Given the description of an element on the screen output the (x, y) to click on. 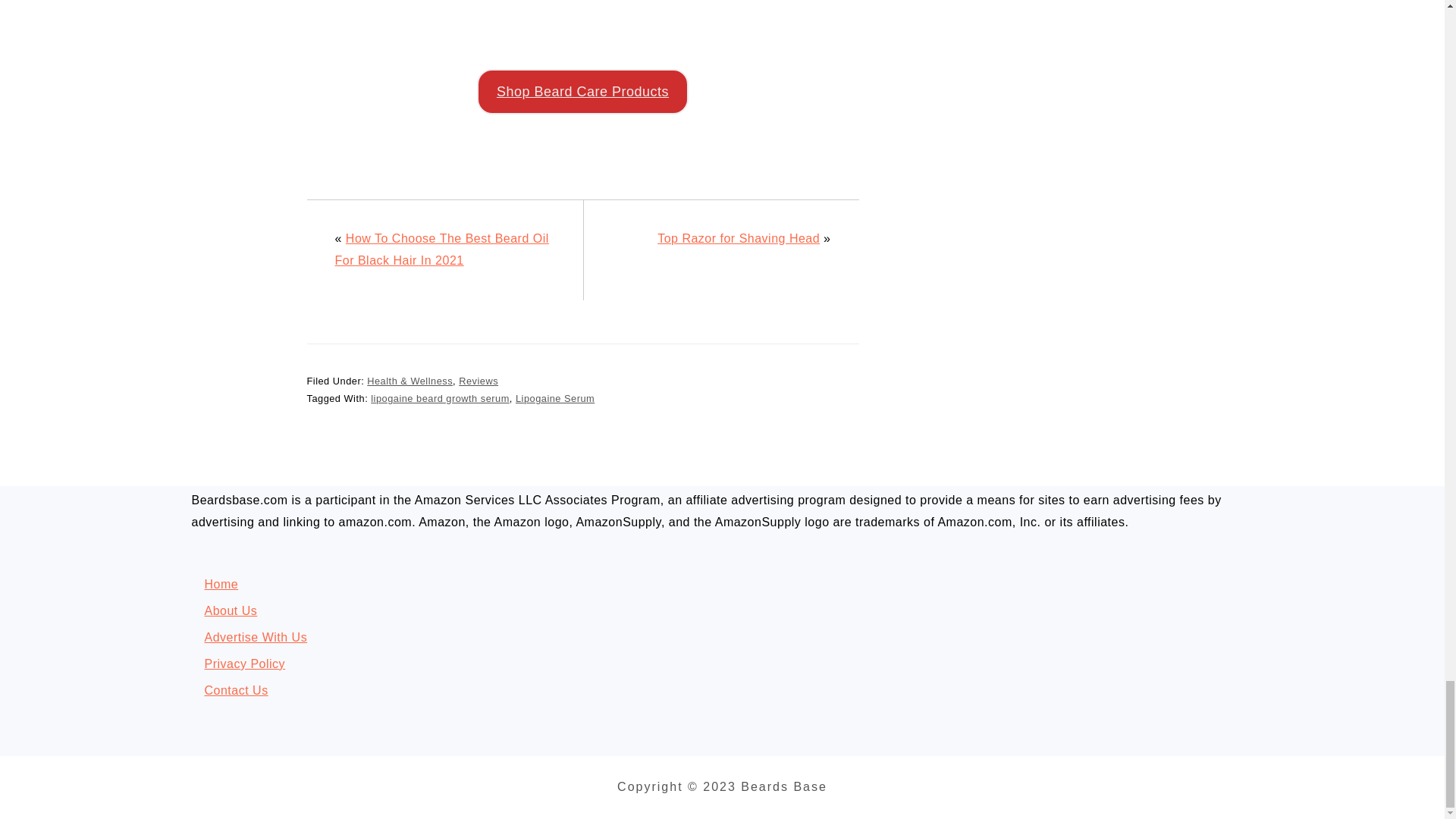
Shop Beard Care Products (582, 91)
How To Choose The Best Beard Oil For Black Hair In 2021 (441, 248)
Top Razor for Shaving Head (738, 237)
Lipogaine Serum (554, 398)
Reviews (477, 380)
lipogaine beard growth serum (440, 398)
